Given the description of an element on the screen output the (x, y) to click on. 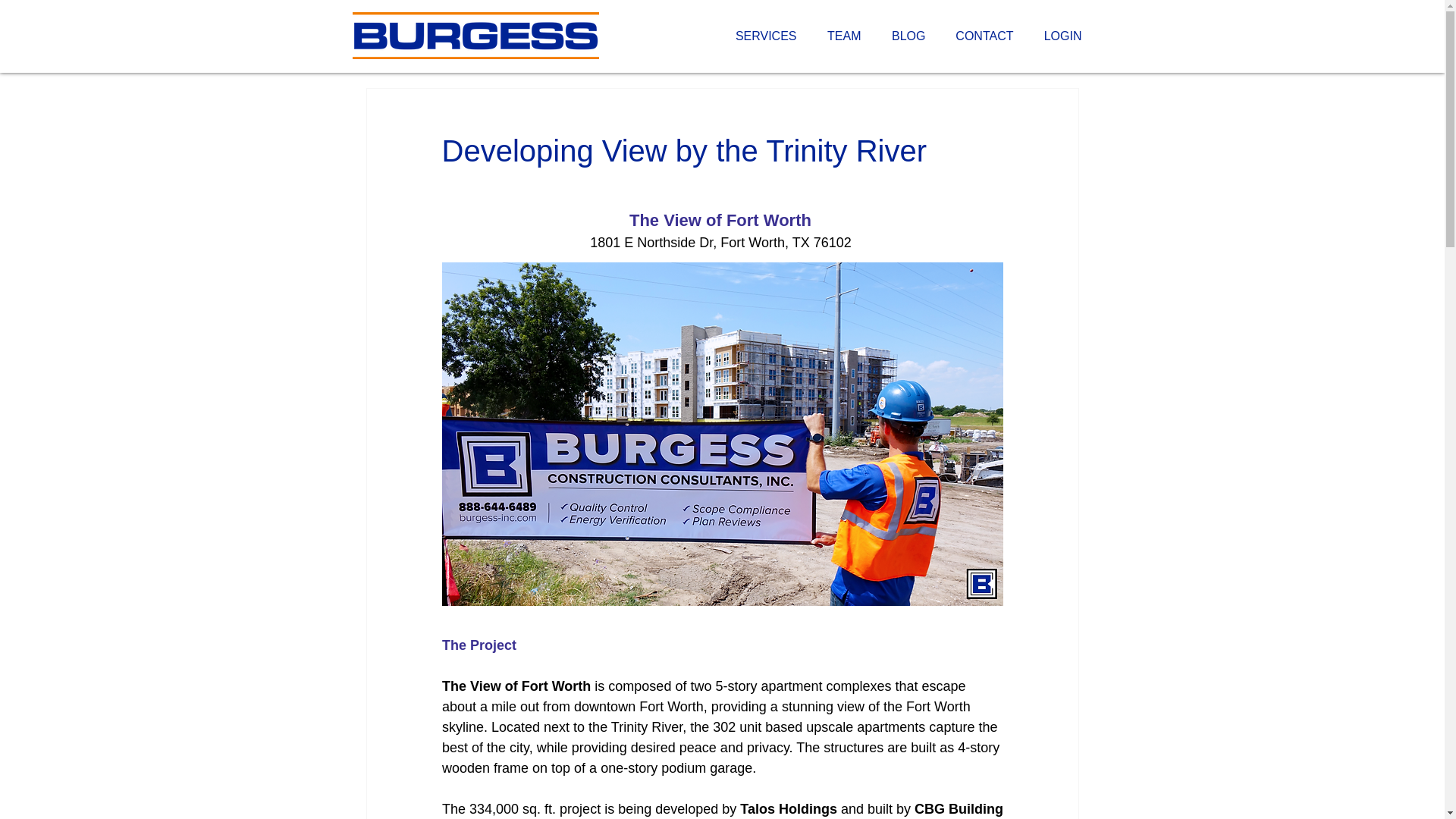
TEAM (840, 36)
BLOG (904, 36)
LOGIN (1059, 36)
SERVICES (765, 36)
